Given the description of an element on the screen output the (x, y) to click on. 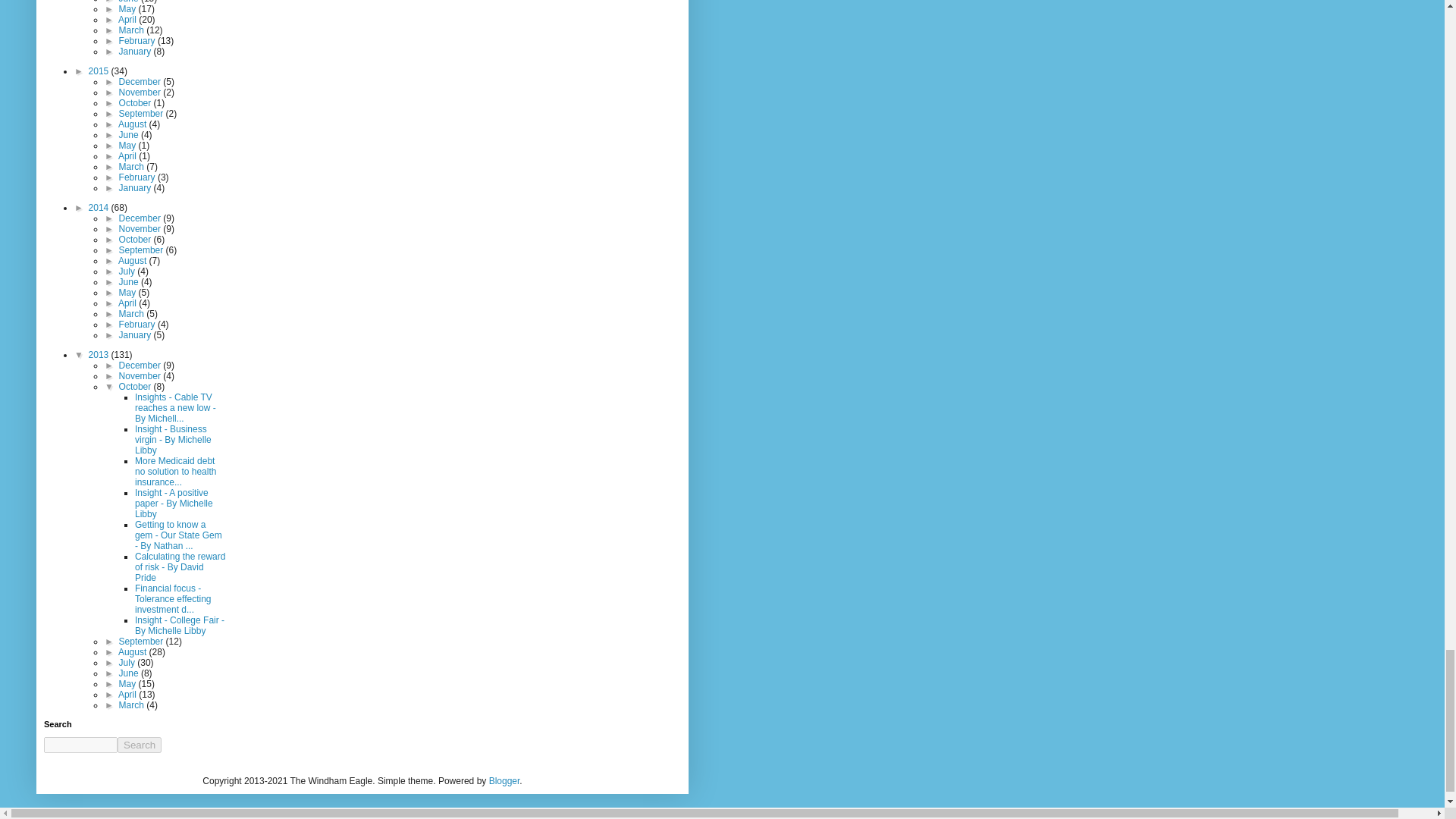
search (139, 744)
search (80, 744)
Search (139, 744)
Search (139, 744)
